Given the description of an element on the screen output the (x, y) to click on. 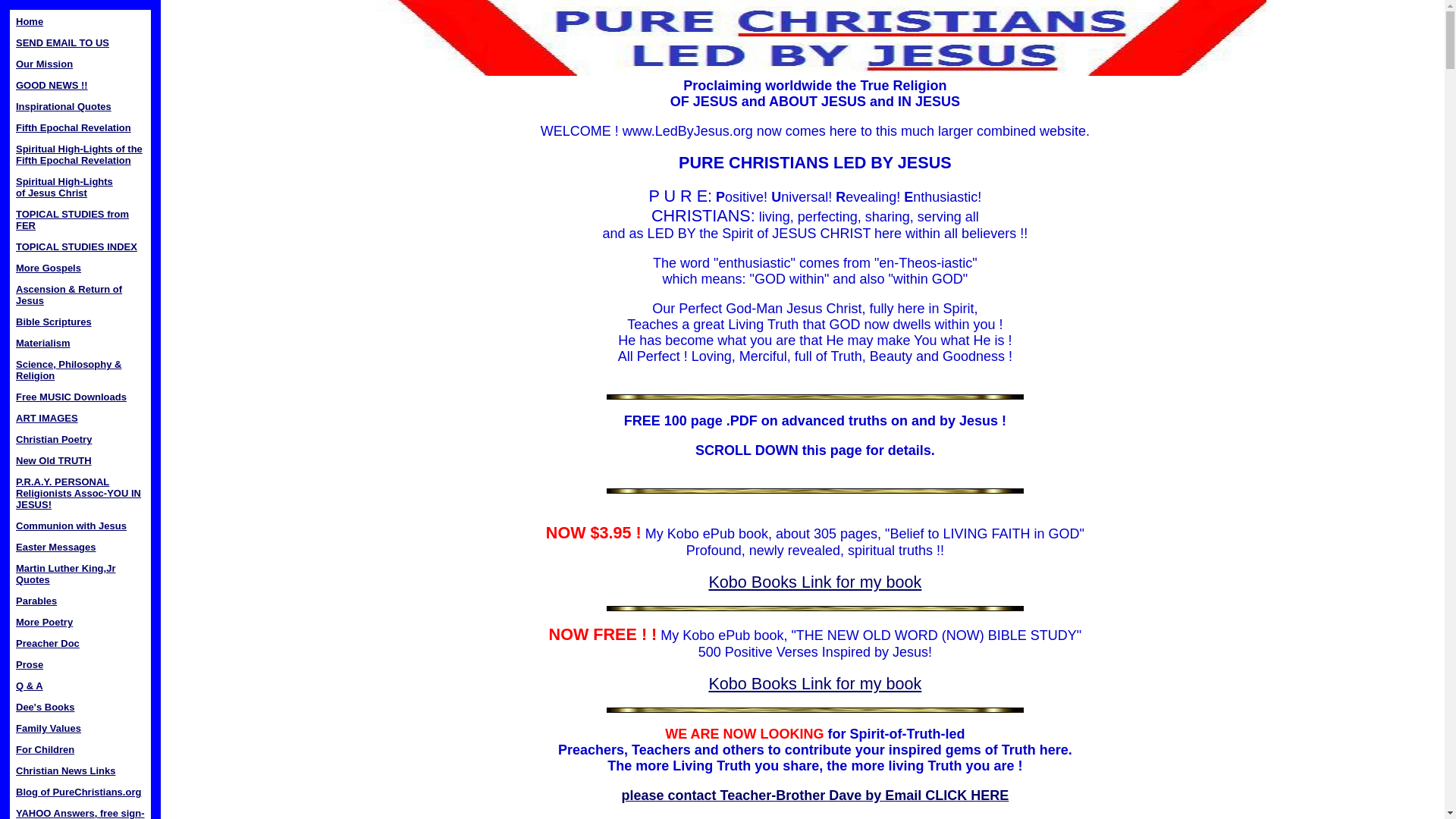
Materialism (42, 342)
Fifth Epochal Revelation (73, 127)
SEND EMAIL TO US (62, 42)
TOPICAL STUDIES from FER (79, 154)
Blog of PureChristians.org (72, 219)
Preacher Doc (78, 791)
Family Values (48, 643)
Martin Luther King,Jr Quotes (48, 727)
TOPICAL STUDIES INDEX (65, 573)
ART IMAGES (76, 246)
Our Mission (47, 418)
GOOD NEWS !! (44, 63)
Bible Scriptures (51, 84)
Communion with Jesus (53, 321)
